Given the description of an element on the screen output the (x, y) to click on. 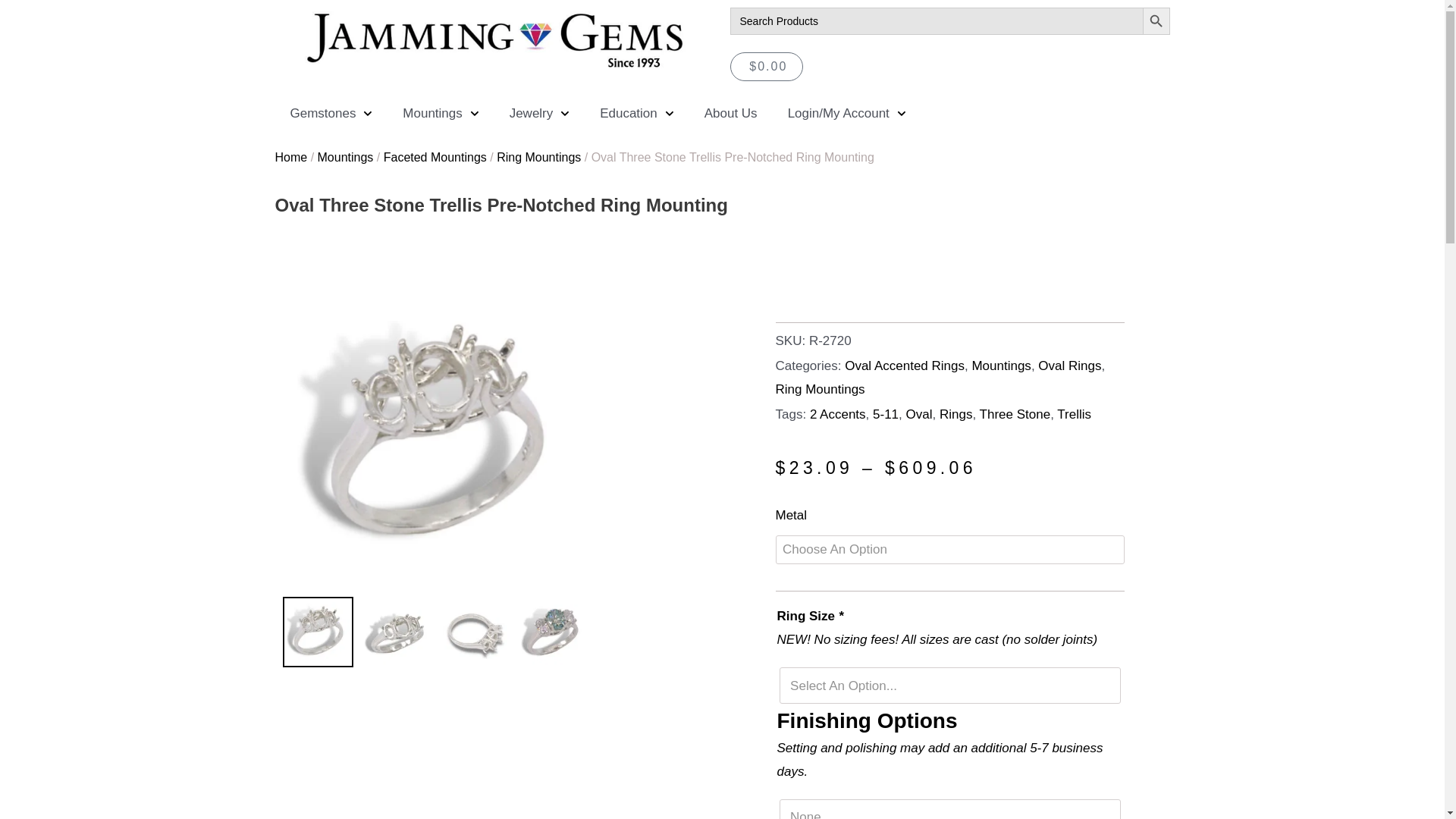
R-2720 (317, 632)
Search Button (1155, 21)
R-2720-0806-BL-MOISSANITE (141, 436)
R-2720-0806-1 (395, 632)
R-2720 (434, 436)
Gemstones (331, 113)
R-2720-0806-SIDE (473, 632)
